Given the description of an element on the screen output the (x, y) to click on. 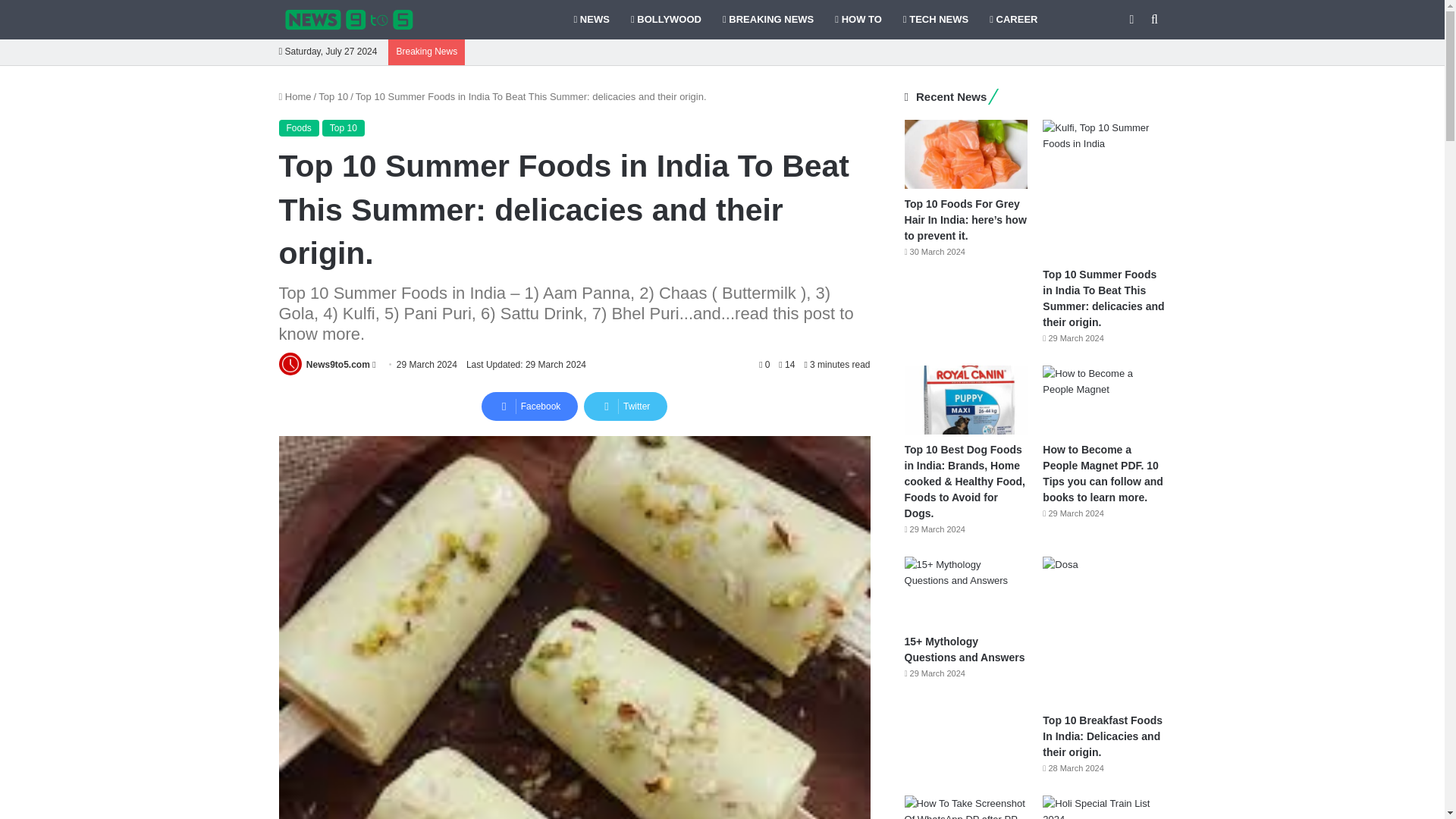
Home (295, 96)
Facebook (529, 406)
Twitter (624, 406)
HOW TO (858, 19)
News9to5.com (337, 364)
News9to5.com (337, 364)
BOLLYWOOD (665, 19)
NEWS (591, 19)
TECH NEWS (935, 19)
BREAKING NEWS (767, 19)
